Given the description of an element on the screen output the (x, y) to click on. 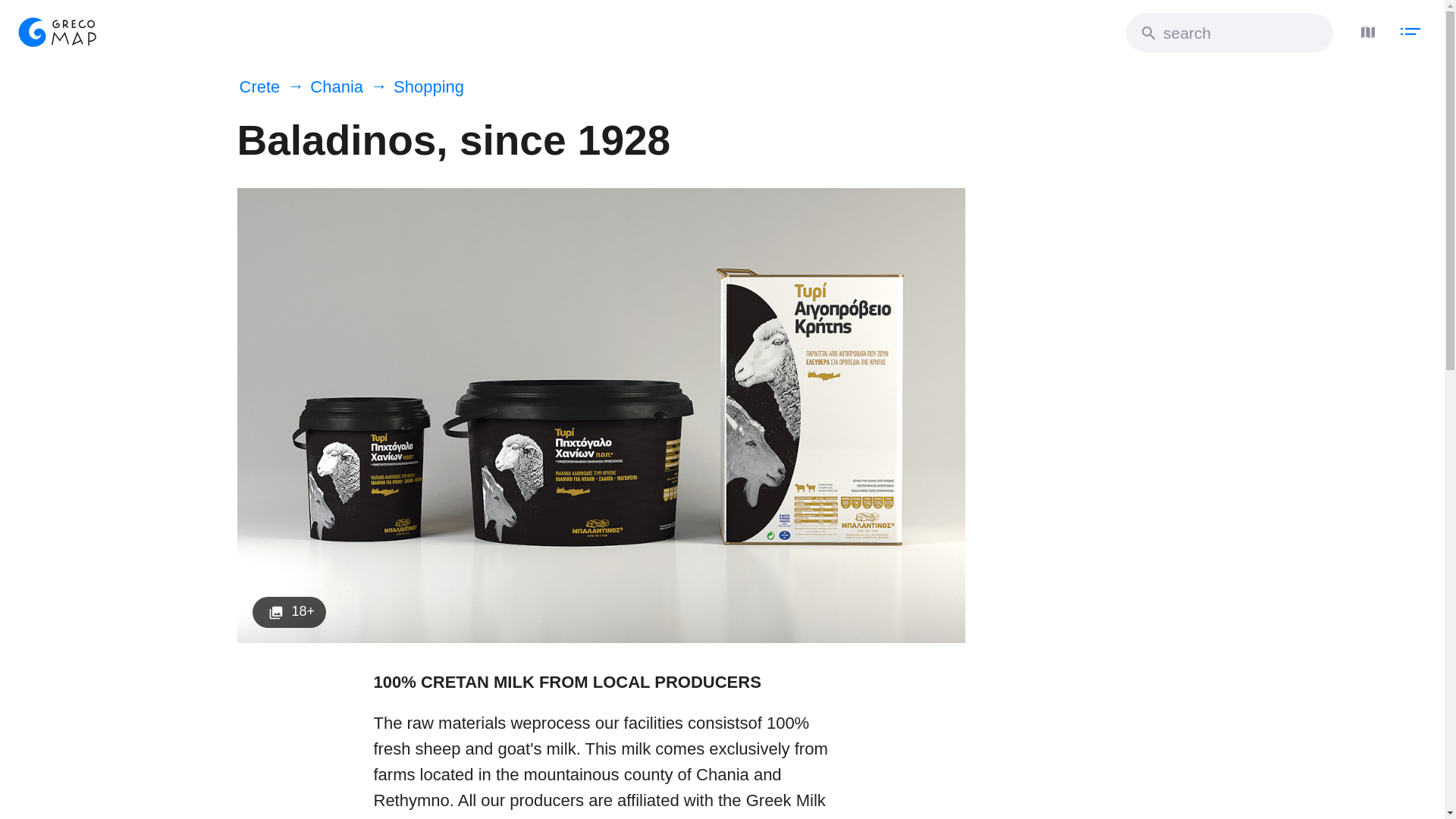
Crete (260, 87)
Crete (260, 87)
Grecomap Travel Guide (56, 31)
Show map (1364, 28)
Shopping - Chania (421, 87)
View gallery (288, 612)
Chania (328, 87)
Chania (328, 87)
Shopping (421, 87)
Search (1148, 33)
